Given the description of an element on the screen output the (x, y) to click on. 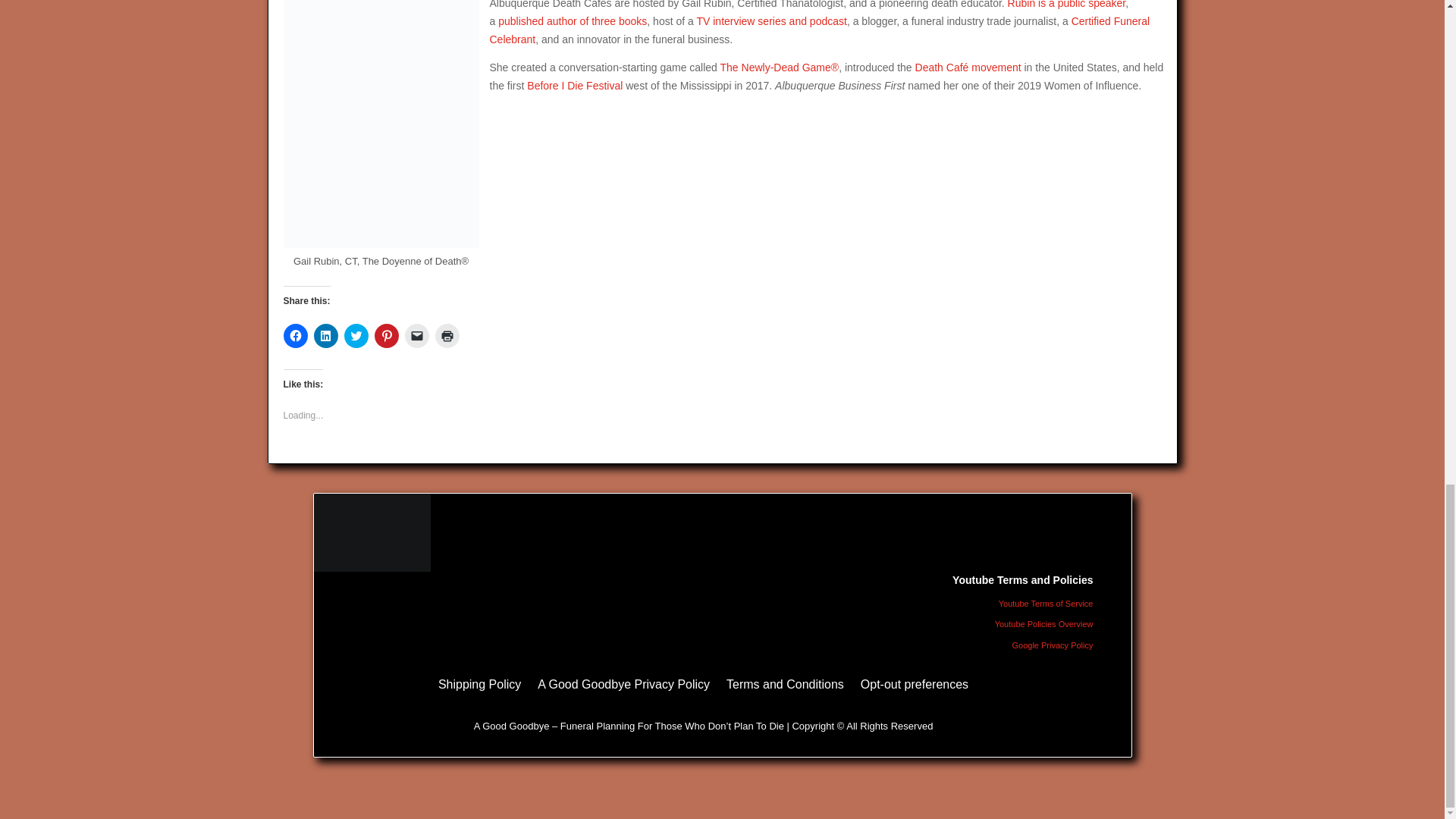
Click to email a link to a friend (416, 335)
Click to share on LinkedIn (325, 335)
Click to share on Facebook (295, 335)
Click to share on Pinterest (386, 335)
Click to print (447, 335)
Click to share on Twitter (355, 335)
